Given the description of an element on the screen output the (x, y) to click on. 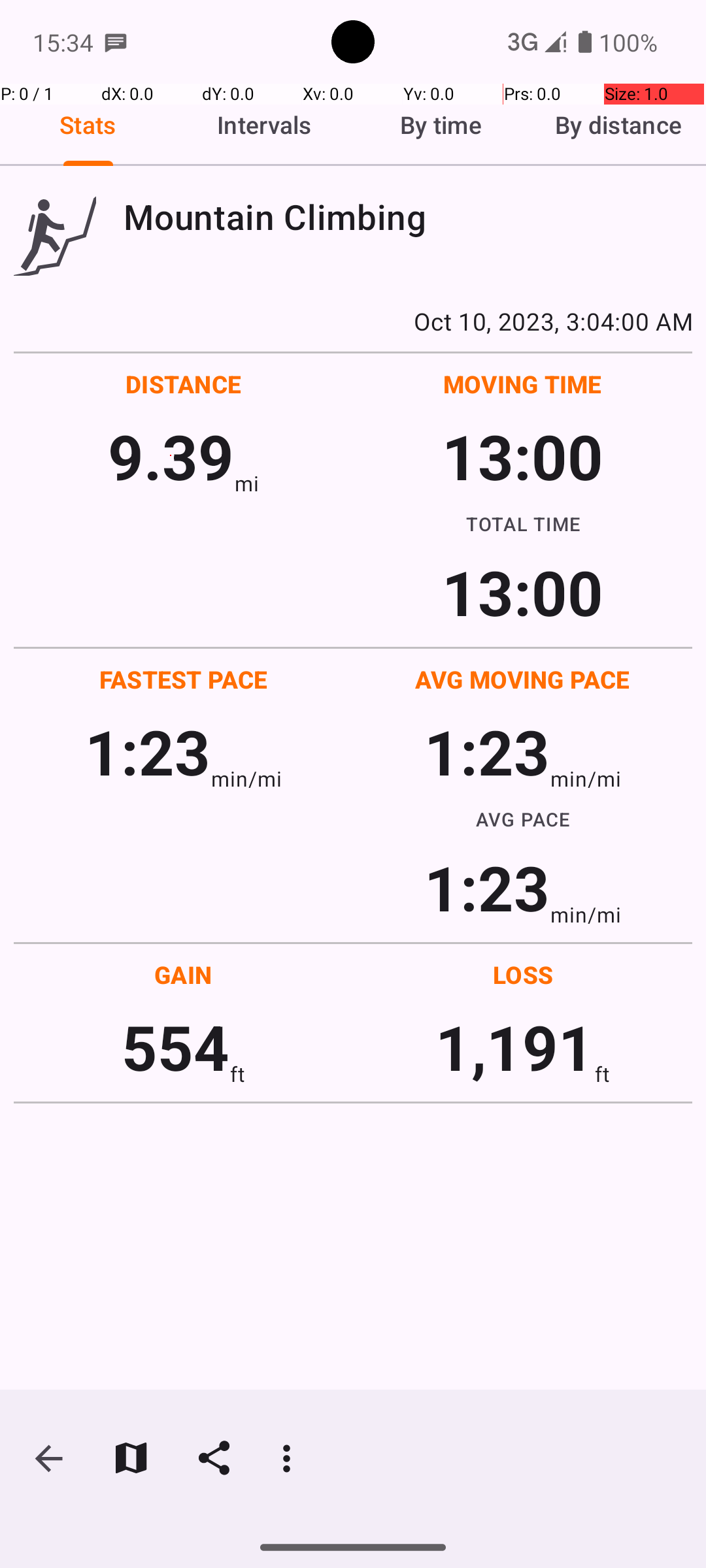
Mountain Climbing Element type: android.widget.TextView (407, 216)
Oct 10, 2023, 3:04:00 AM Element type: android.widget.TextView (352, 320)
9.39 Element type: android.widget.TextView (170, 455)
13:00 Element type: android.widget.TextView (522, 455)
FASTEST PACE Element type: android.widget.TextView (183, 678)
AVG MOVING PACE Element type: android.widget.TextView (522, 678)
1:23 Element type: android.widget.TextView (147, 750)
min/mi Element type: android.widget.TextView (246, 778)
AVG PACE Element type: android.widget.TextView (522, 818)
554 Element type: android.widget.TextView (175, 1045)
1,191 Element type: android.widget.TextView (514, 1045)
